Given the description of an element on the screen output the (x, y) to click on. 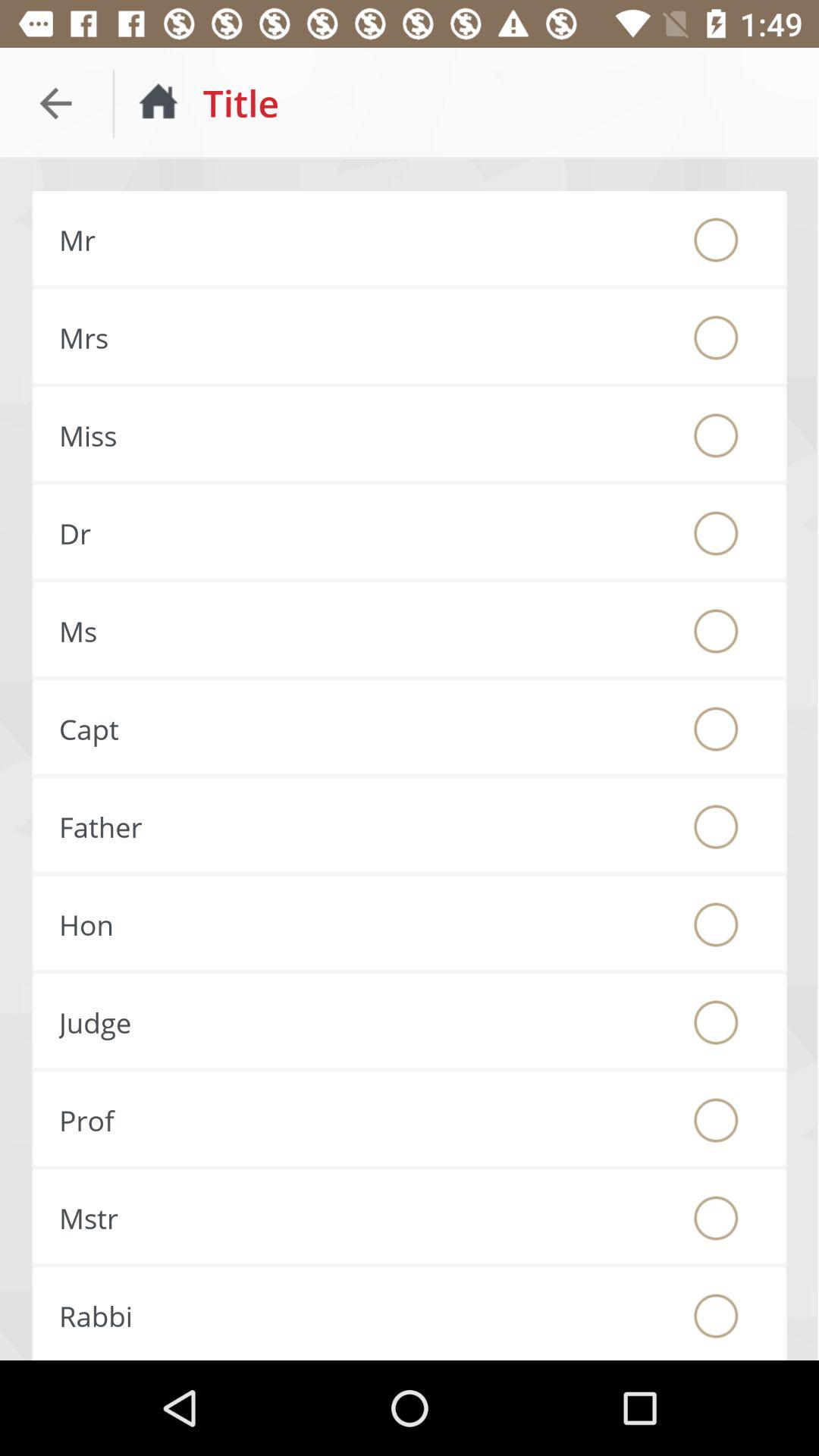
click item above mr item (55, 103)
